Given the description of an element on the screen output the (x, y) to click on. 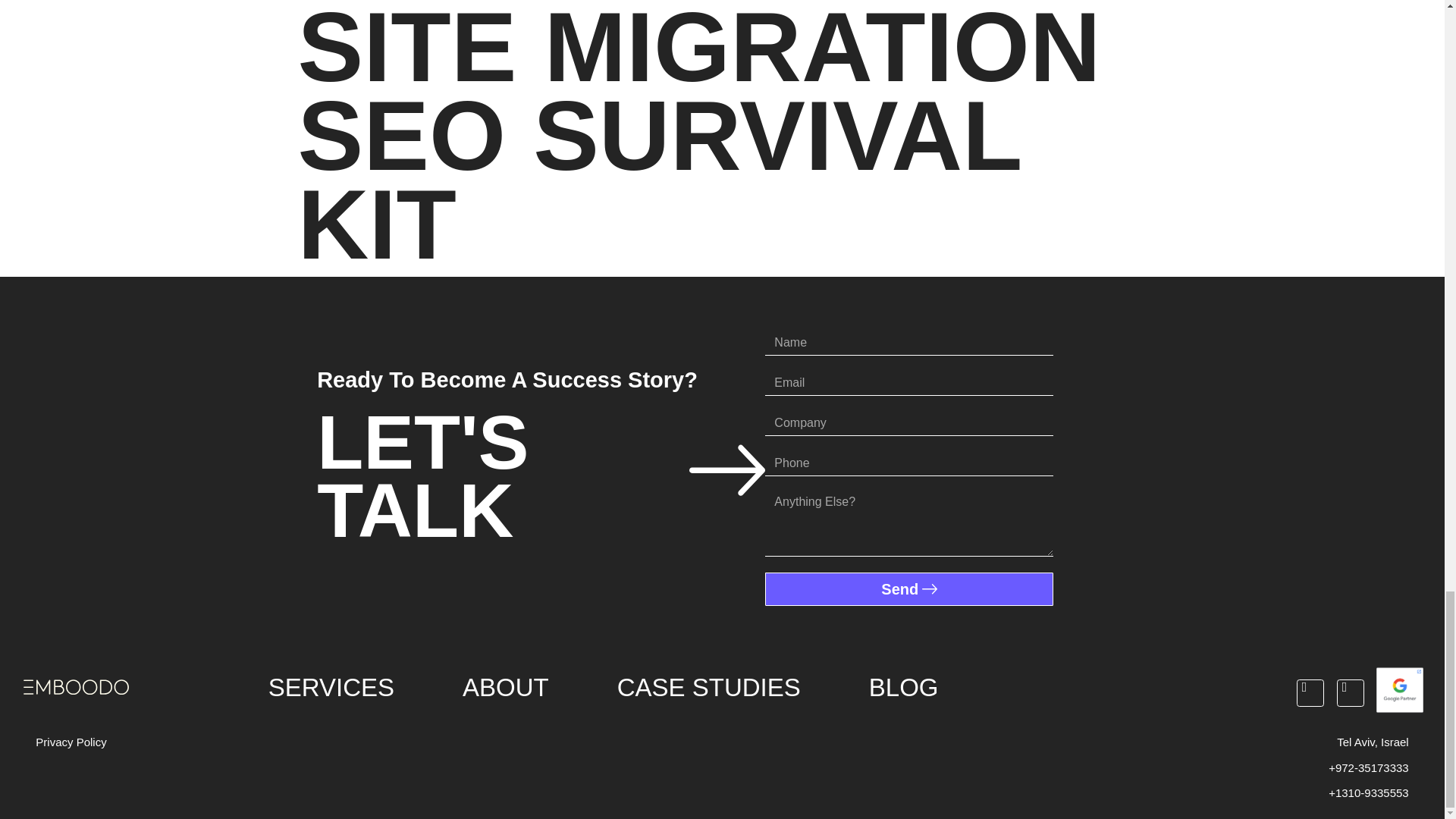
BLOG (903, 687)
ABOUT (505, 687)
Send (908, 589)
LET'S TALK (541, 476)
SERVICES (331, 687)
CASE STUDIES (708, 687)
Privacy Policy (70, 741)
